Given the description of an element on the screen output the (x, y) to click on. 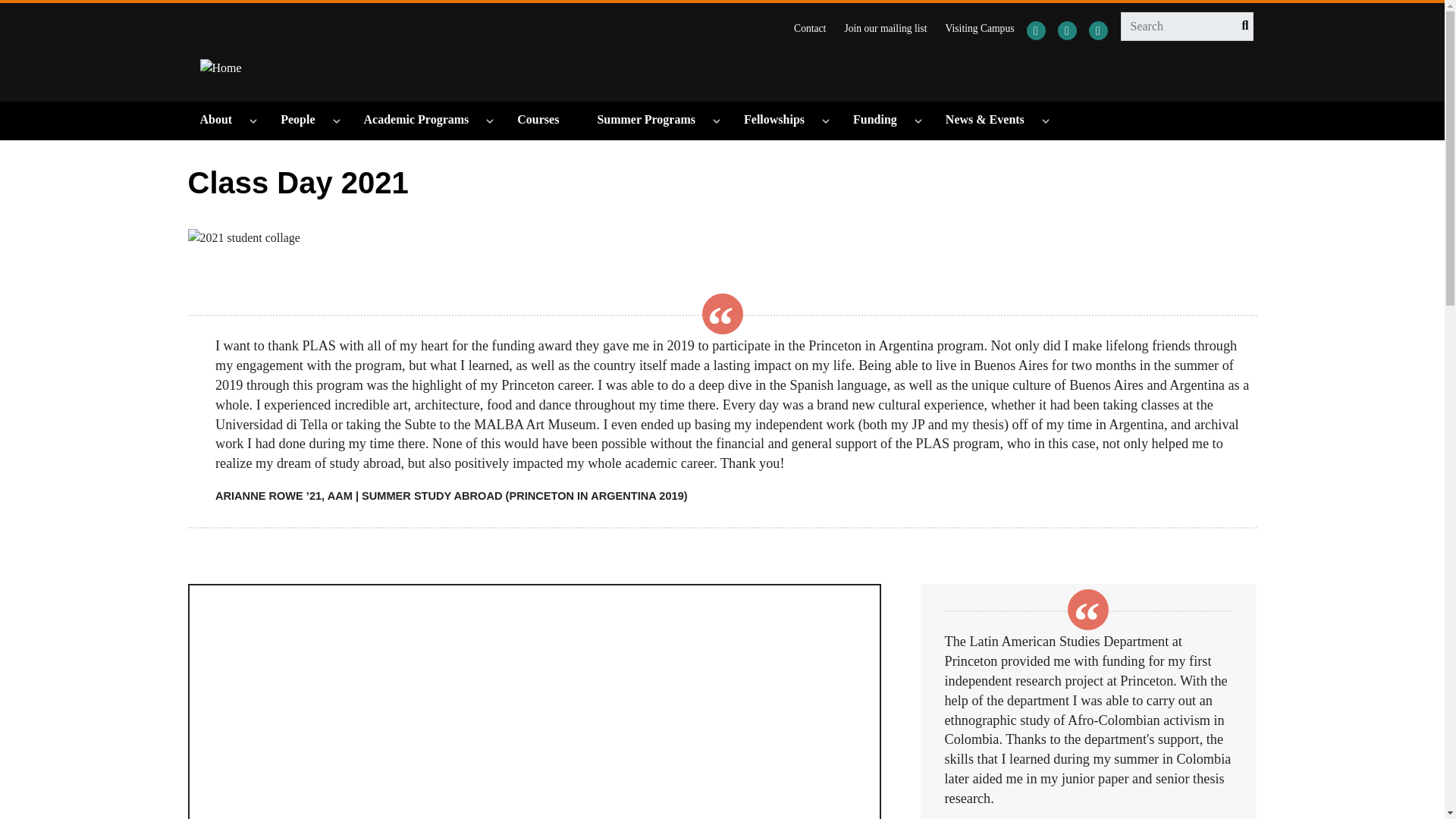
People (304, 120)
Academic Programs (423, 120)
About (222, 120)
Submit (1240, 25)
Home (220, 67)
Princeton University (282, 24)
